Given the description of an element on the screen output the (x, y) to click on. 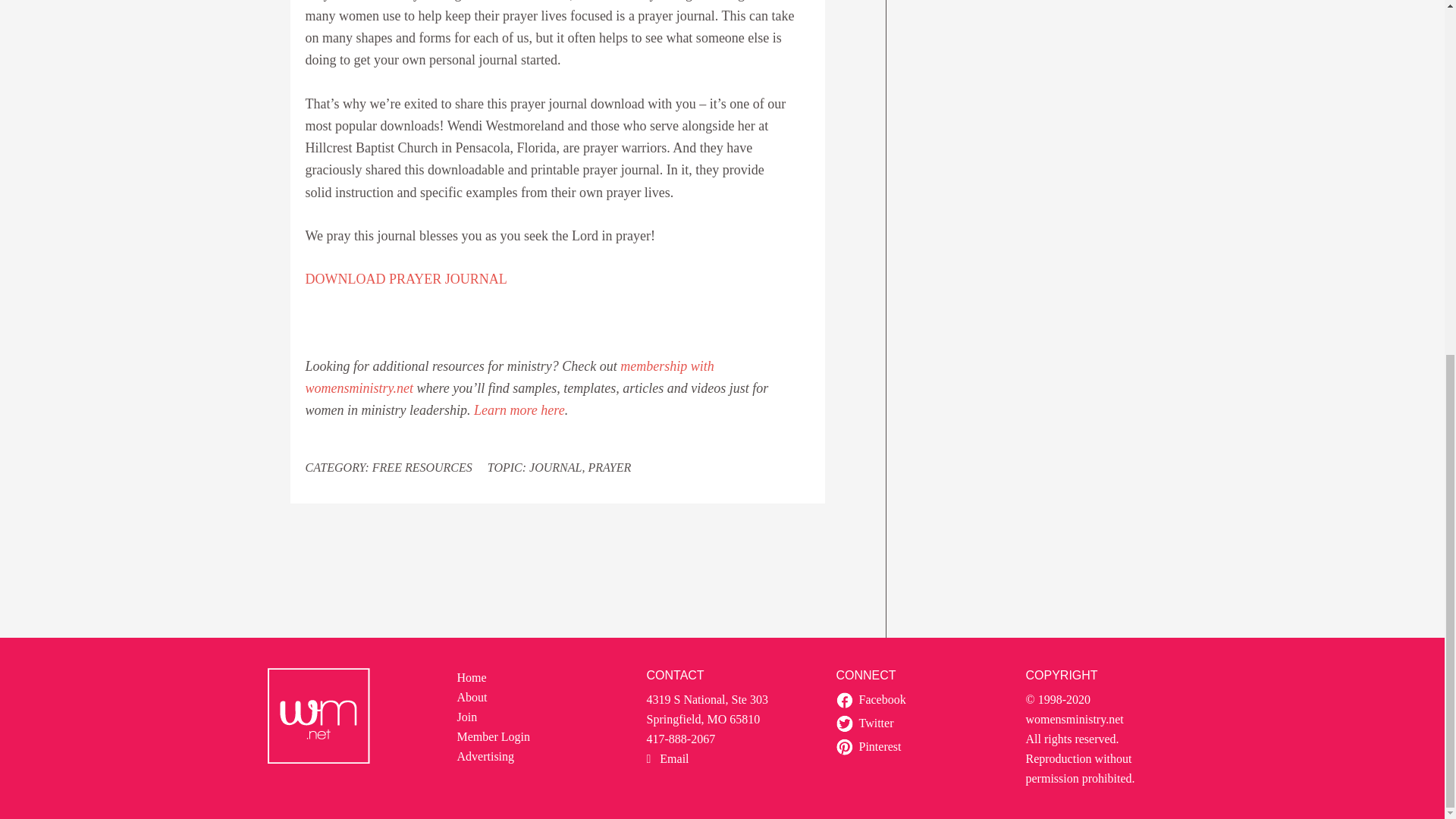
Member Login (493, 736)
PRAYER (609, 467)
FREE RESOURCES (421, 467)
Facebook (882, 698)
Learn more here (519, 409)
About (471, 697)
Join (467, 716)
membership with womensministry.net (508, 376)
JOURNAL (554, 467)
  Email (667, 758)
